Given the description of an element on the screen output the (x, y) to click on. 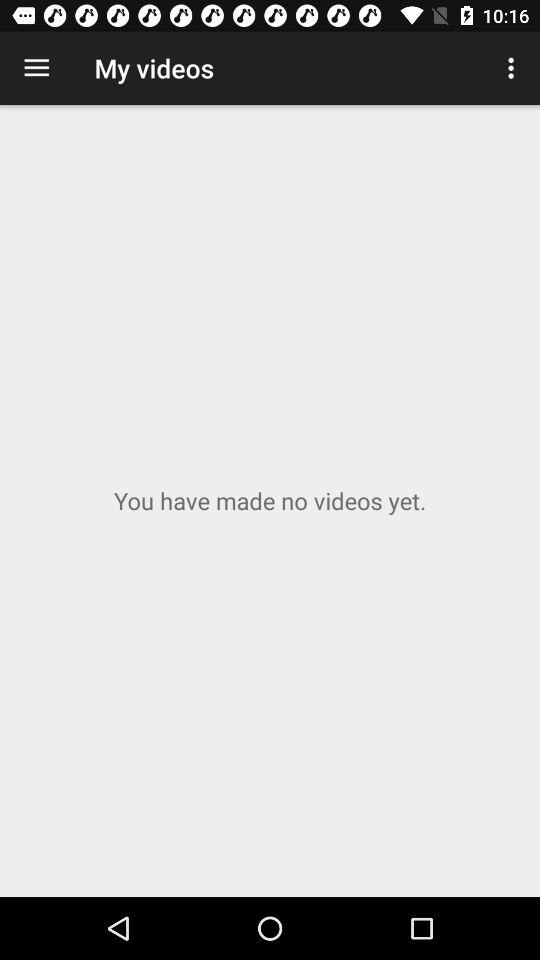
launch the icon next to the my videos (513, 67)
